Given the description of an element on the screen output the (x, y) to click on. 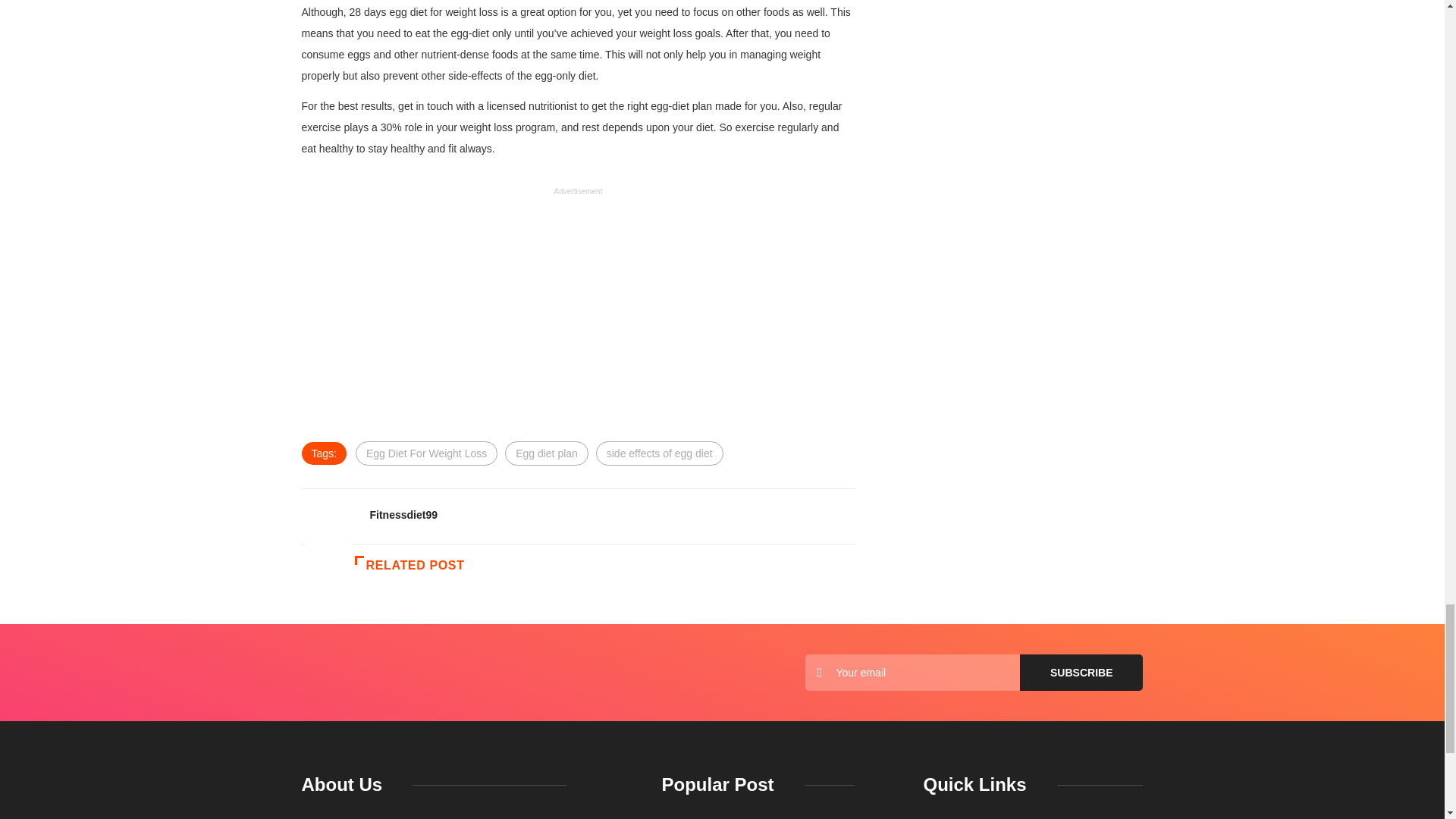
Egg Diet For Weight Loss (426, 453)
Subscribe (1081, 672)
Egg diet plan (546, 453)
side effects of egg diet (659, 453)
